Given the description of an element on the screen output the (x, y) to click on. 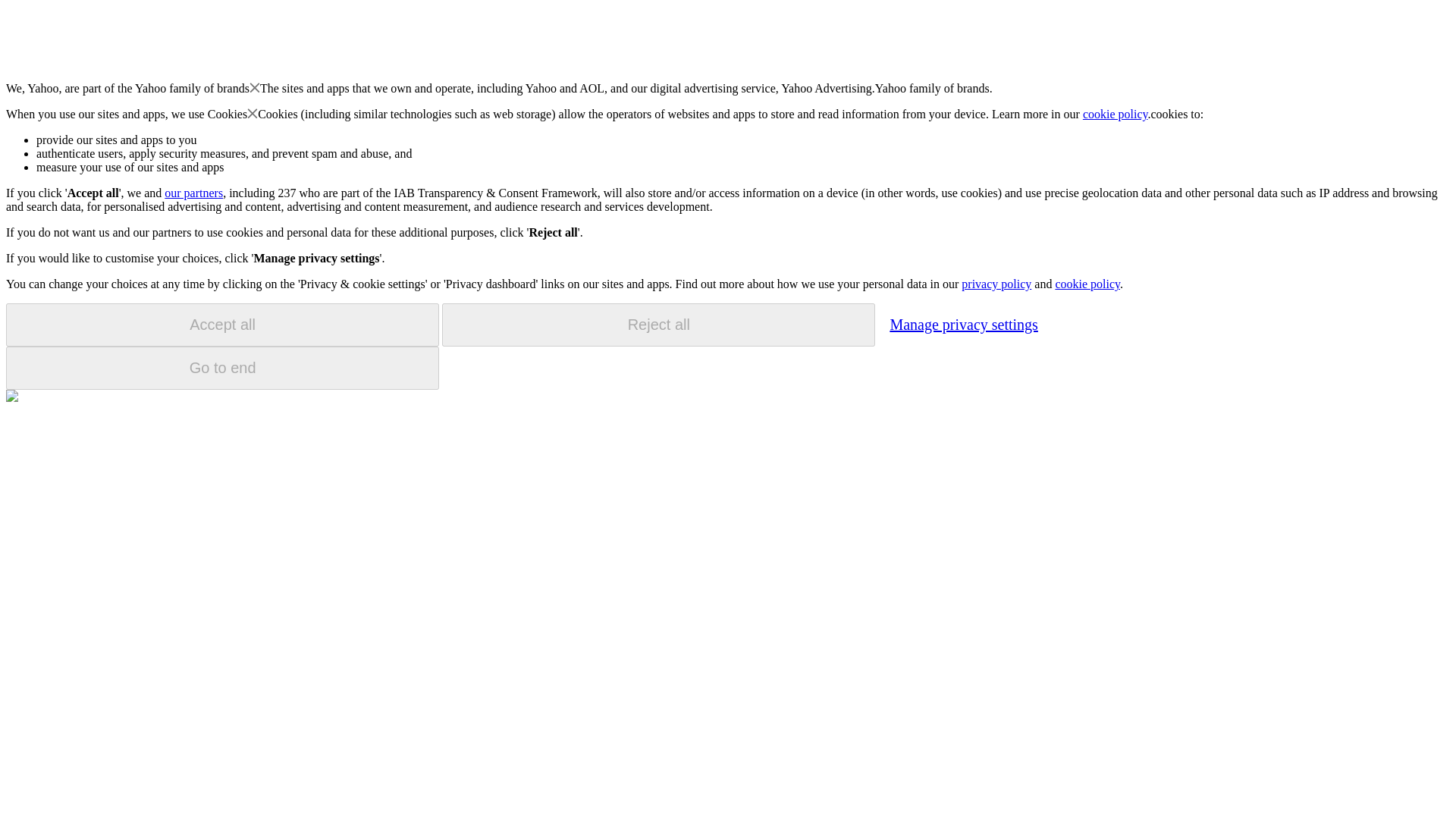
cookie policy (1115, 113)
cookie policy (1086, 283)
privacy policy (995, 283)
Reject all (658, 324)
Accept all (222, 324)
Manage privacy settings (963, 323)
our partners (193, 192)
Go to end (222, 367)
